Given the description of an element on the screen output the (x, y) to click on. 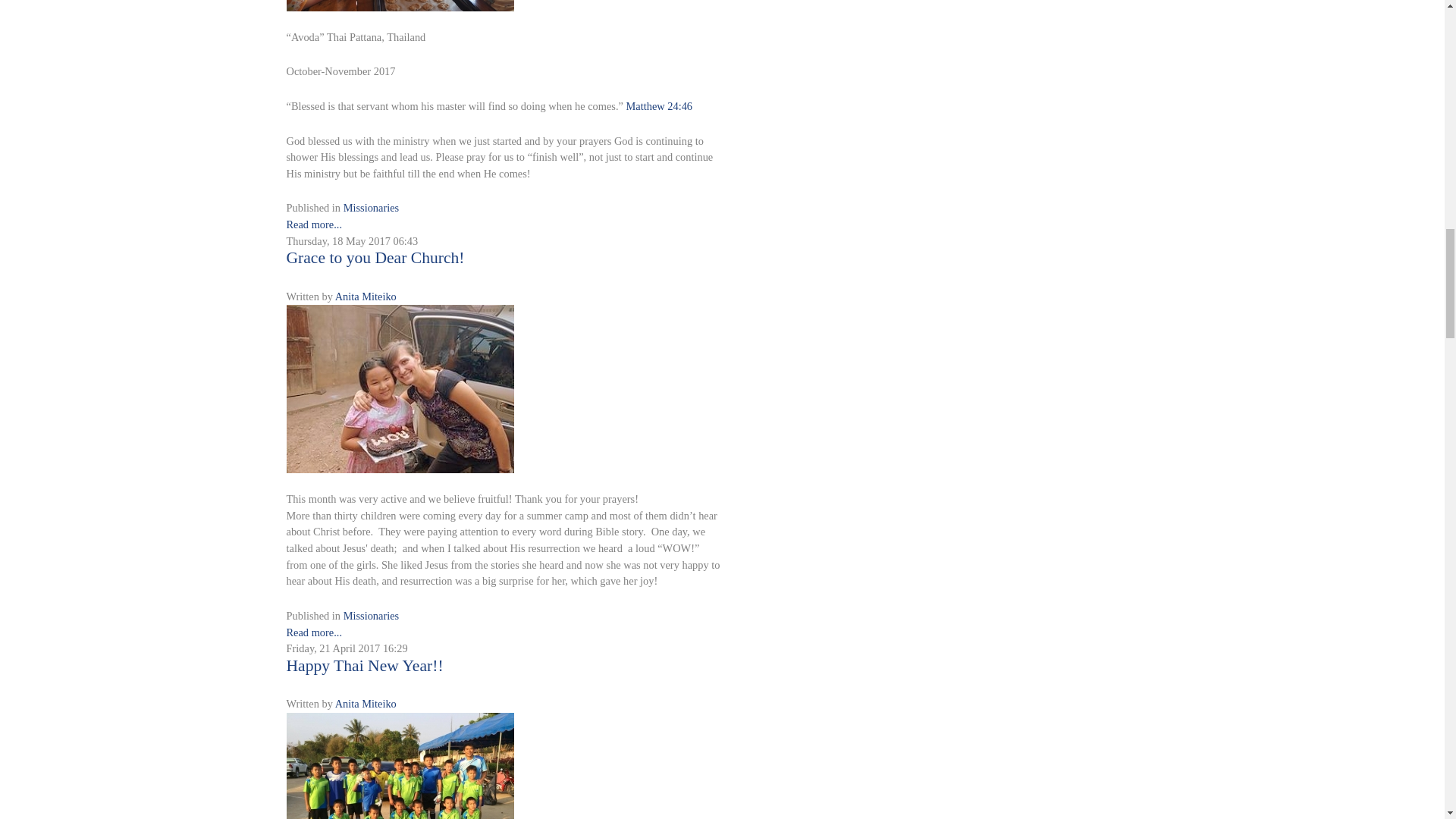
Happy  Thai New Year!! (399, 797)
Grace to you Dear Church! (399, 387)
